Given the description of an element on the screen output the (x, y) to click on. 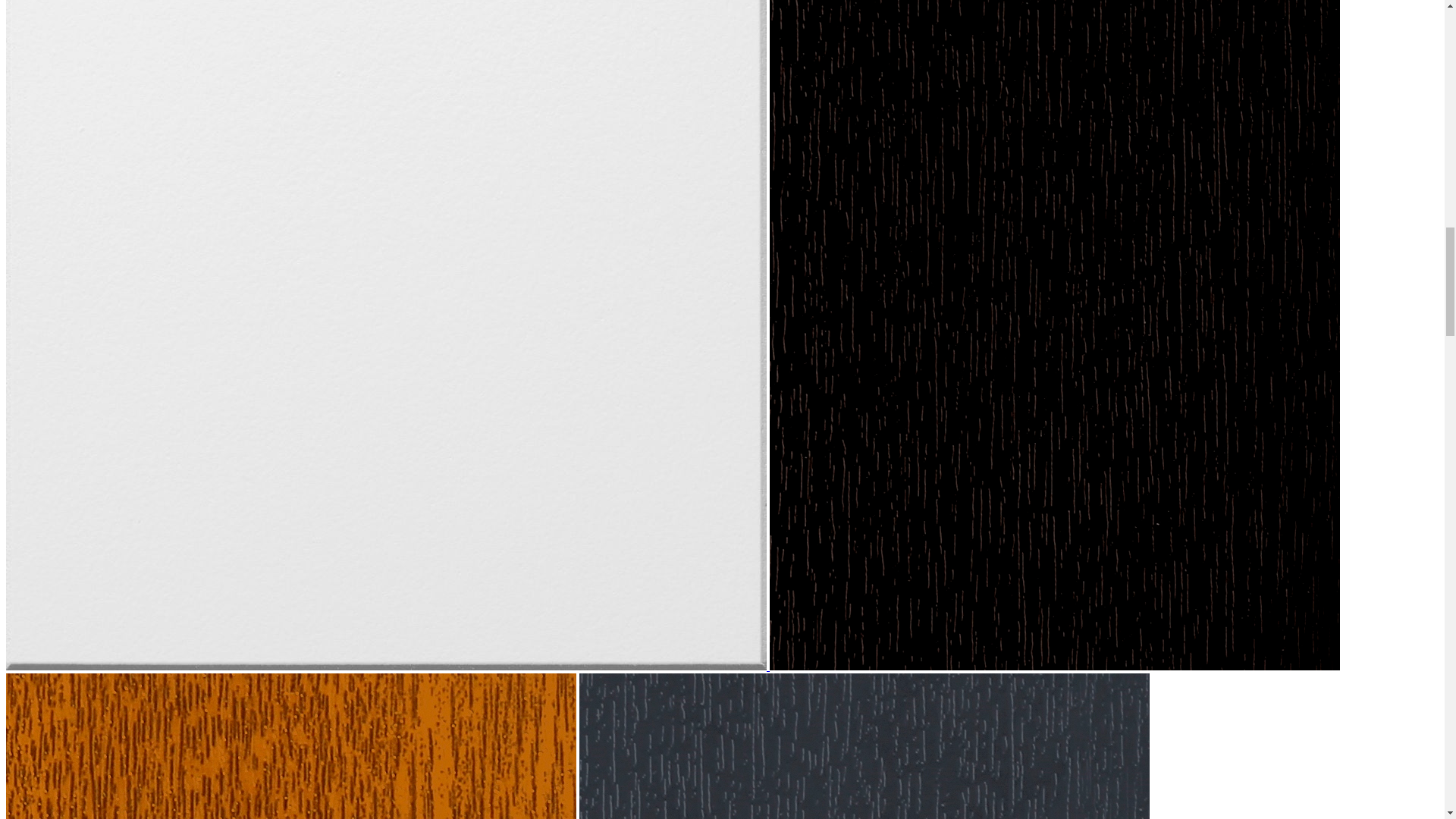
Black (1054, 666)
White (387, 666)
